Given the description of an element on the screen output the (x, y) to click on. 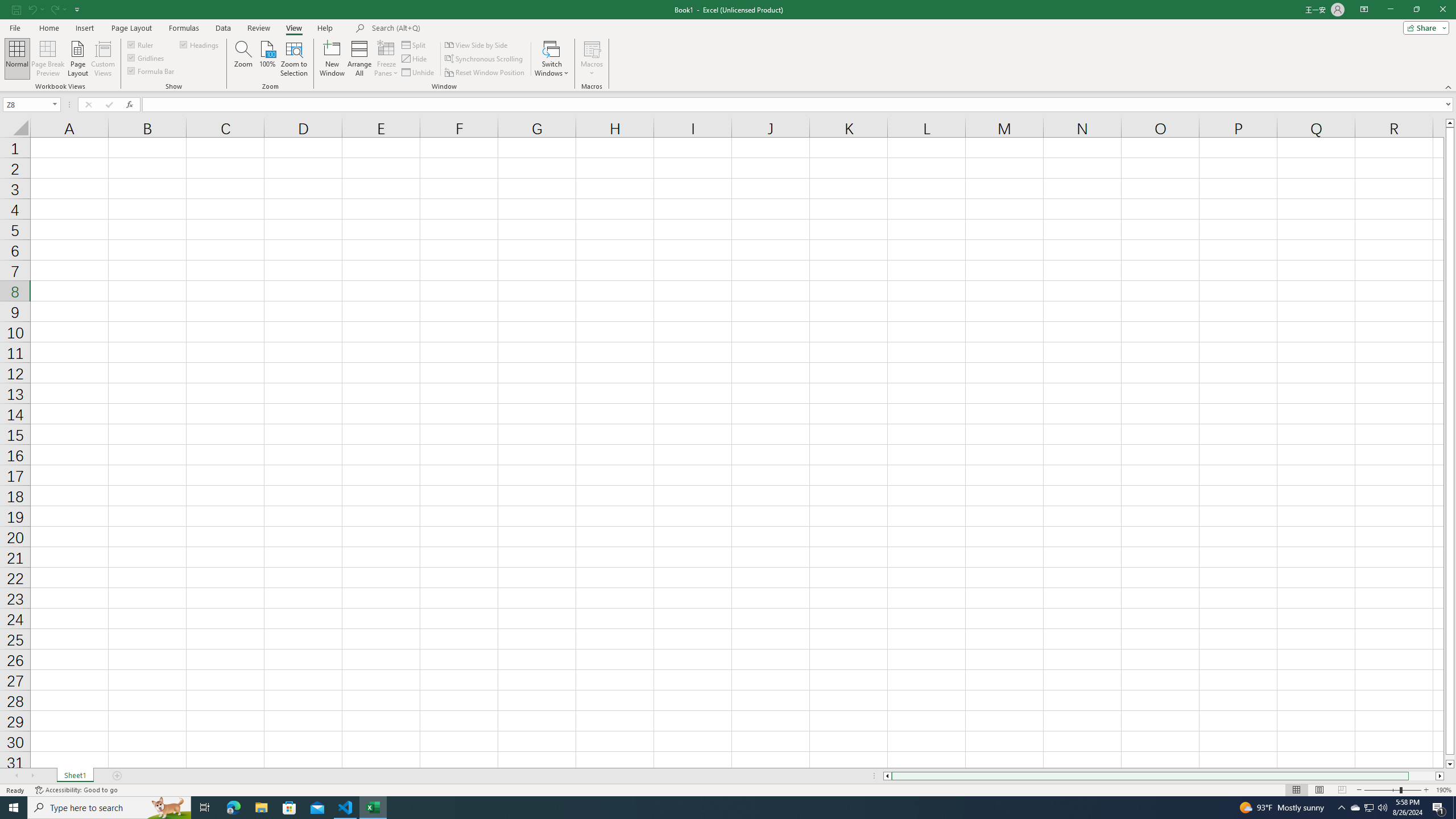
Ruler (141, 44)
100% (266, 58)
Headings (199, 44)
New Window (332, 58)
